Given the description of an element on the screen output the (x, y) to click on. 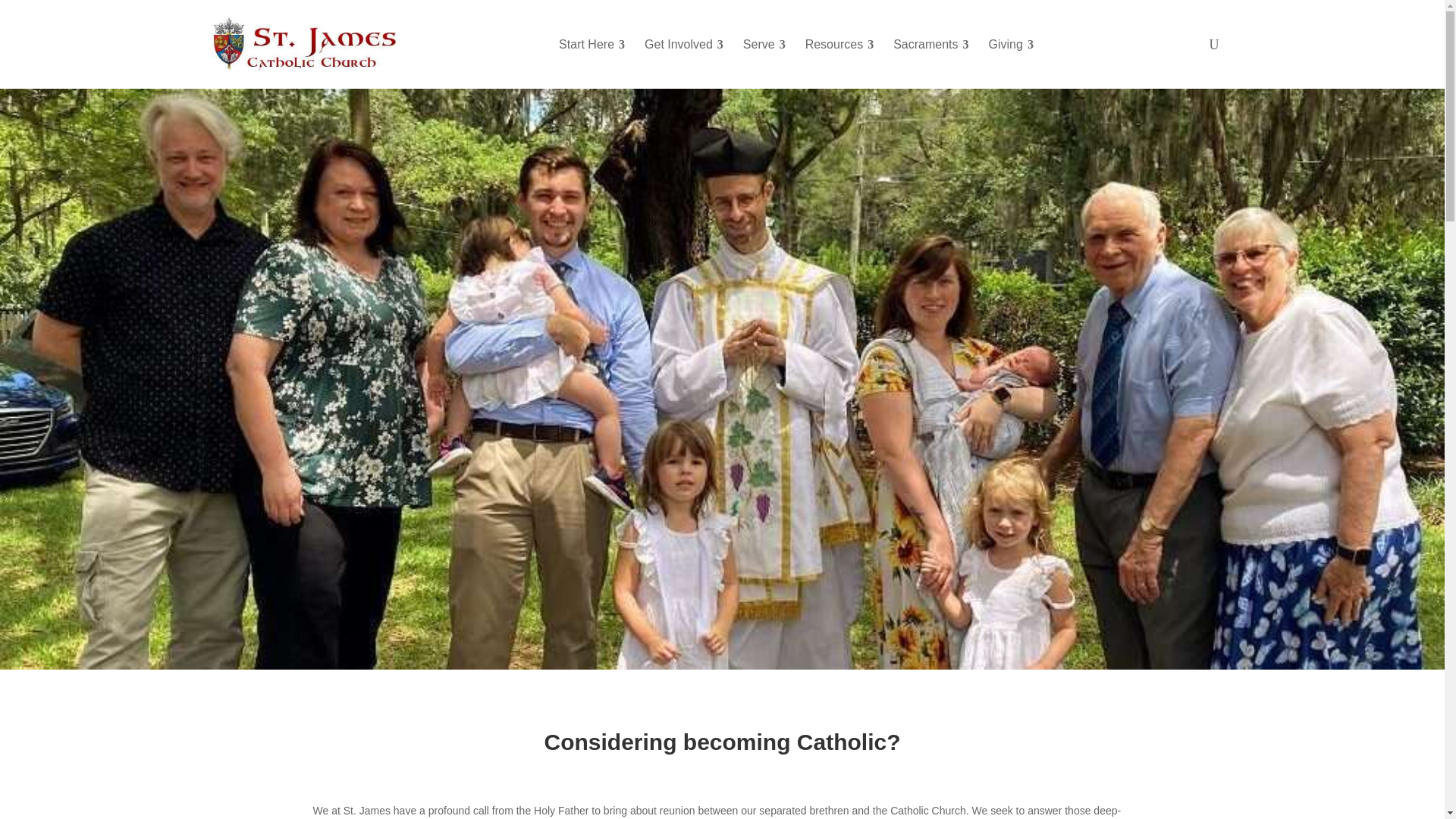
Start Here (592, 44)
Get Involved (683, 44)
Serve (764, 44)
Resources (839, 44)
